Given the description of an element on the screen output the (x, y) to click on. 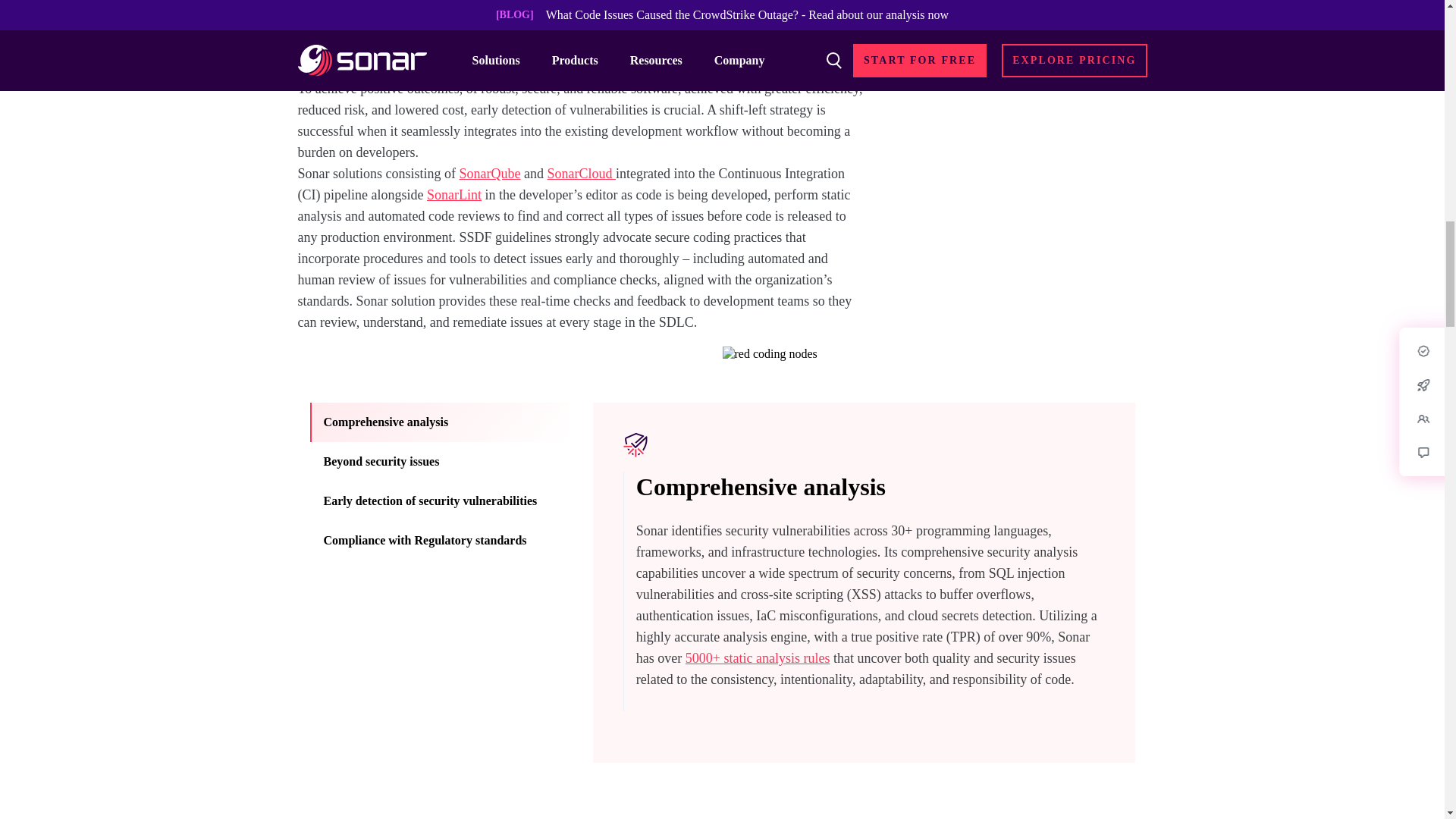
SonarQube (490, 173)
SonarCloud  (581, 173)
SonarLint (453, 194)
